Given the description of an element on the screen output the (x, y) to click on. 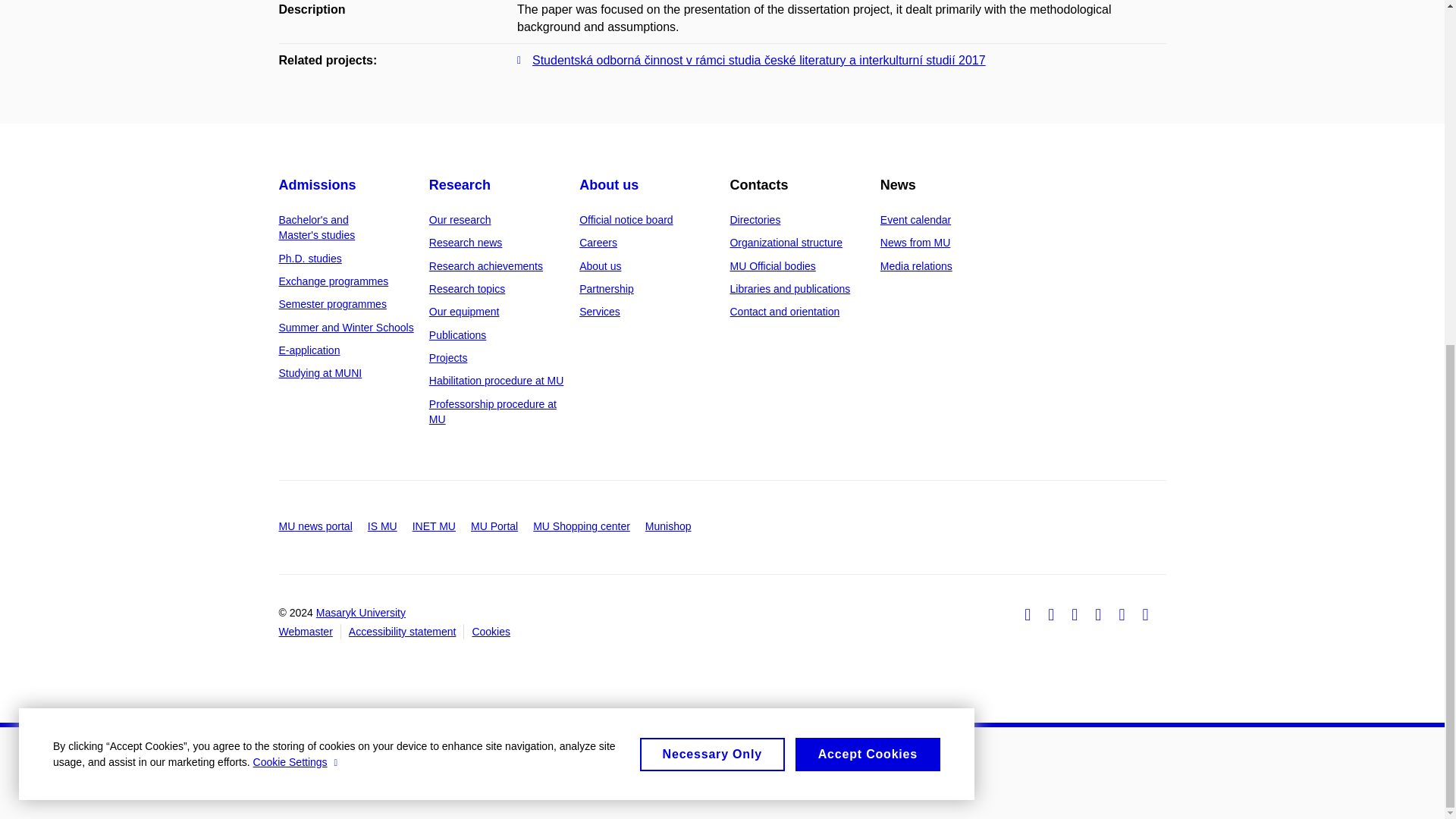
Publications (457, 335)
Admissions (317, 184)
Exchange programmes (333, 281)
Semester programmes (333, 304)
E-application (309, 349)
Ph.D. studies (310, 258)
Our equipment (464, 311)
Projects (448, 357)
Research (459, 184)
Research topics (467, 288)
Our research (460, 219)
Studying at MUNI (320, 372)
Research achievements (486, 265)
Research news (465, 242)
